Given the description of an element on the screen output the (x, y) to click on. 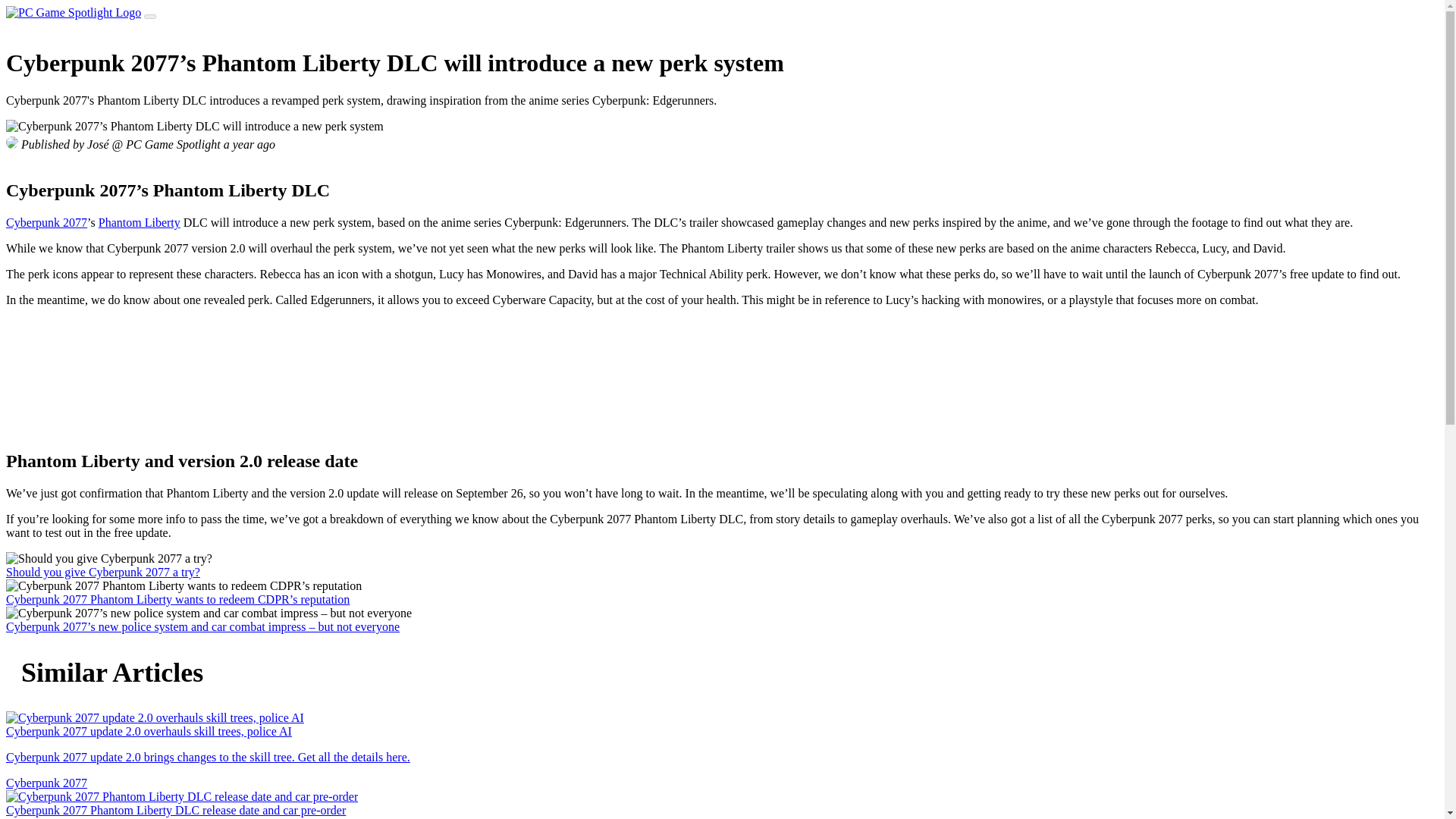
YouTube video player (118, 376)
Should you give Cyberpunk 2077 a try? (108, 558)
Phantom Liberty (139, 222)
Home (73, 12)
Should you give Cyberpunk 2077 a try? (102, 571)
Cyberpunk 2077 (46, 222)
Cyberpunk 2077 (46, 782)
Cyberpunk 2077 update 2.0 overhauls skill trees, police AI (154, 717)
